Given the description of an element on the screen output the (x, y) to click on. 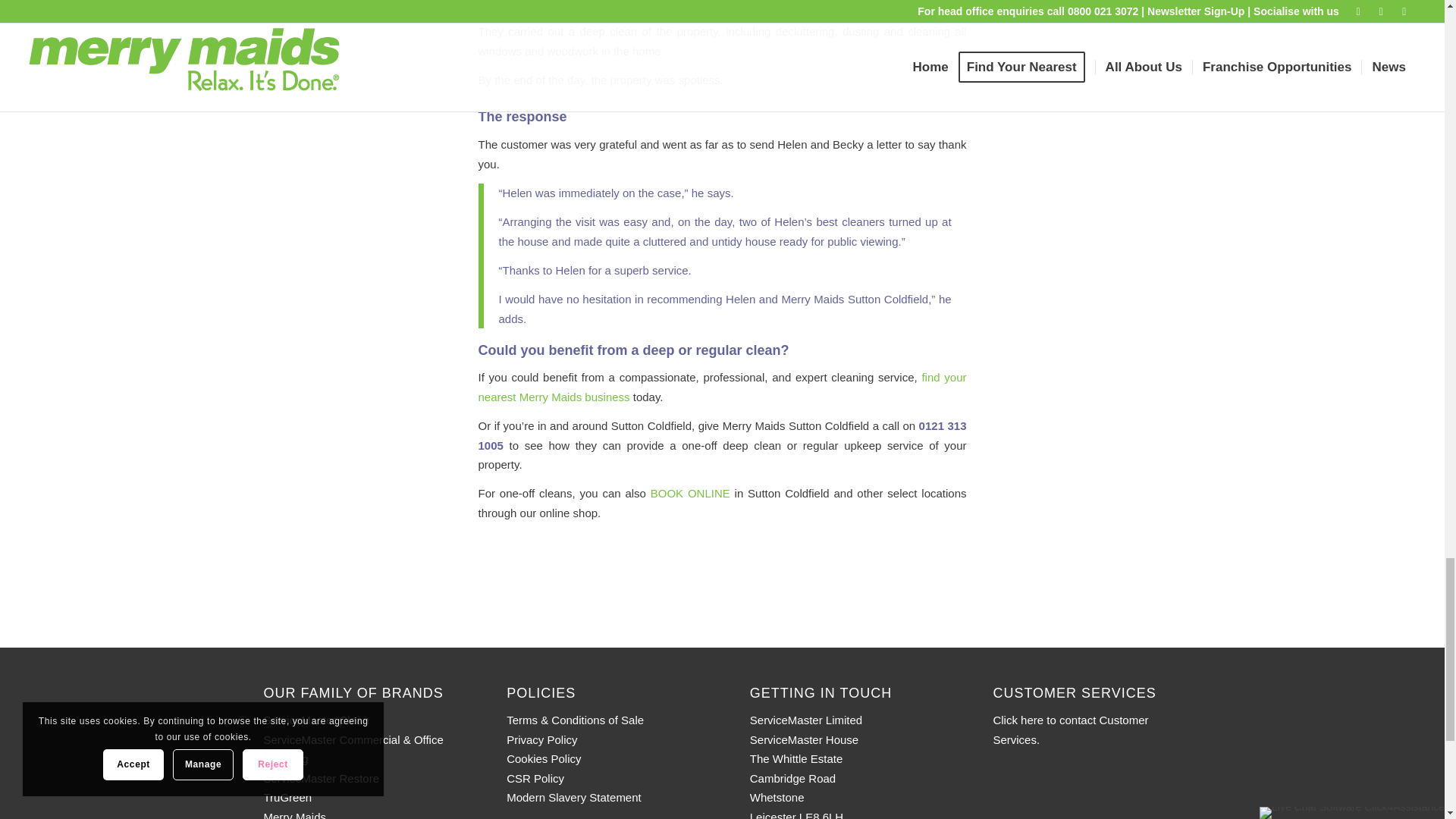
Merry Maids (294, 814)
ServiceMaster Restore (321, 778)
TruGreen (288, 797)
ServiceMaster Clean (316, 719)
